Given the description of an element on the screen output the (x, y) to click on. 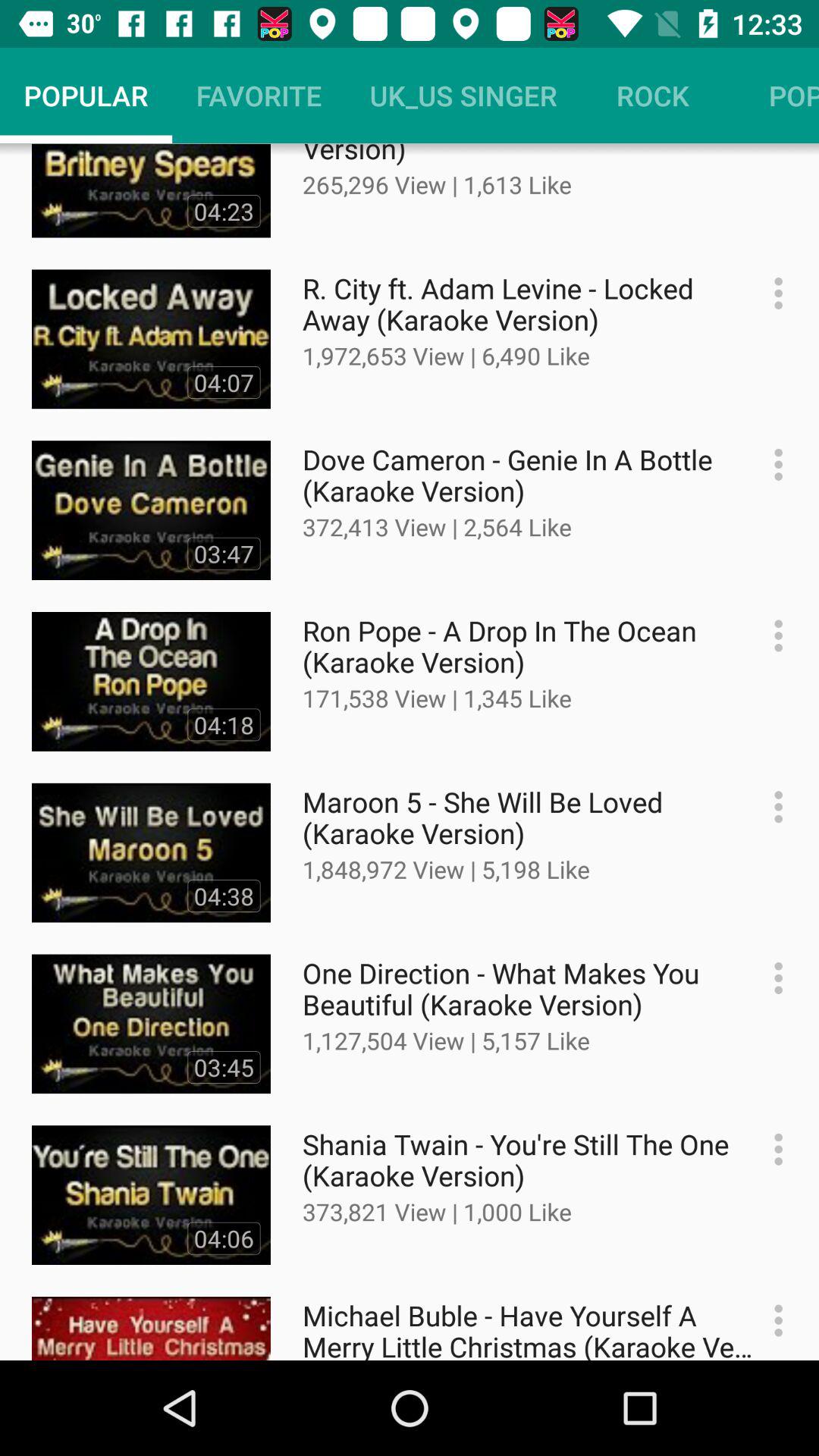
explore more options (770, 978)
